Given the description of an element on the screen output the (x, y) to click on. 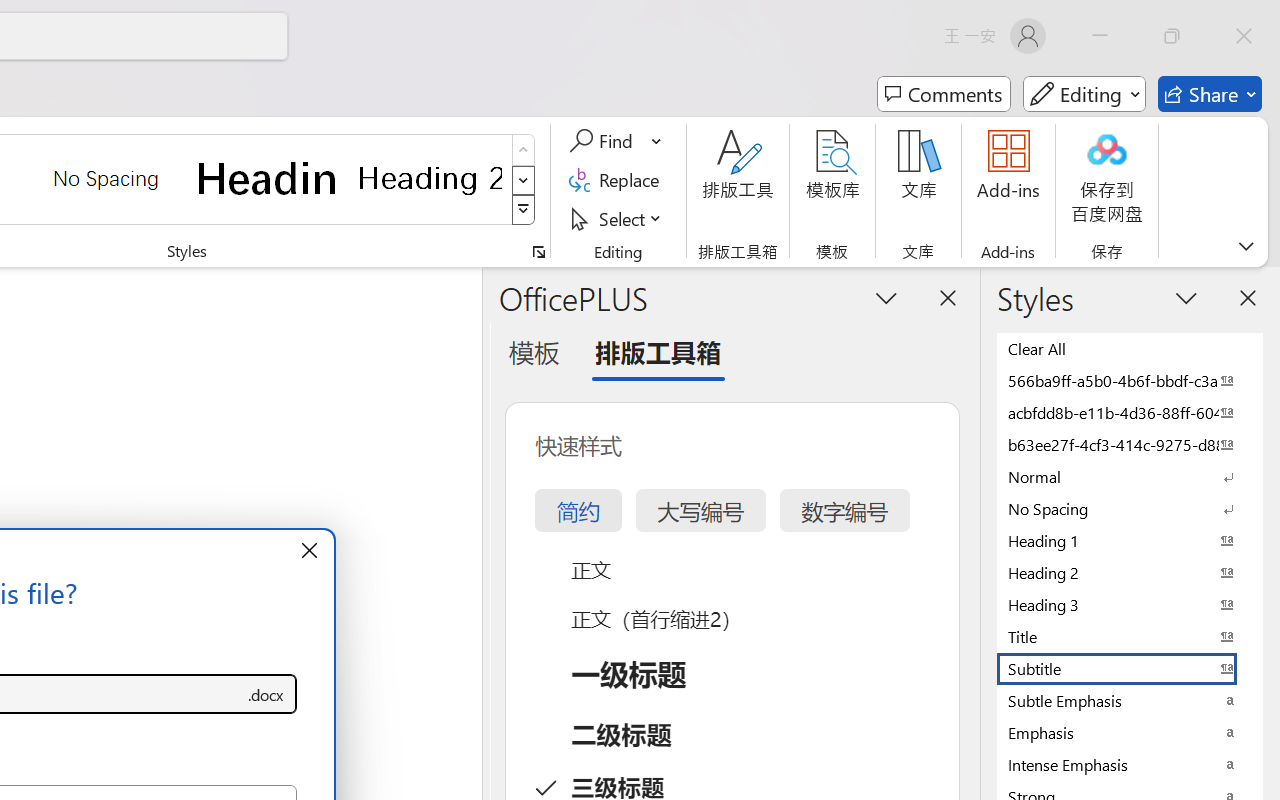
acbfdd8b-e11b-4d36-88ff-6049b138f862 (1130, 412)
Replace... (617, 179)
Mode (1083, 94)
Heading 1 (267, 178)
Styles... (538, 252)
Clear All (1130, 348)
Heading 2 (429, 178)
Title (1130, 636)
Restore Down (1172, 36)
Class: NetUIImage (523, 210)
Task Pane Options (886, 297)
